Given the description of an element on the screen output the (x, y) to click on. 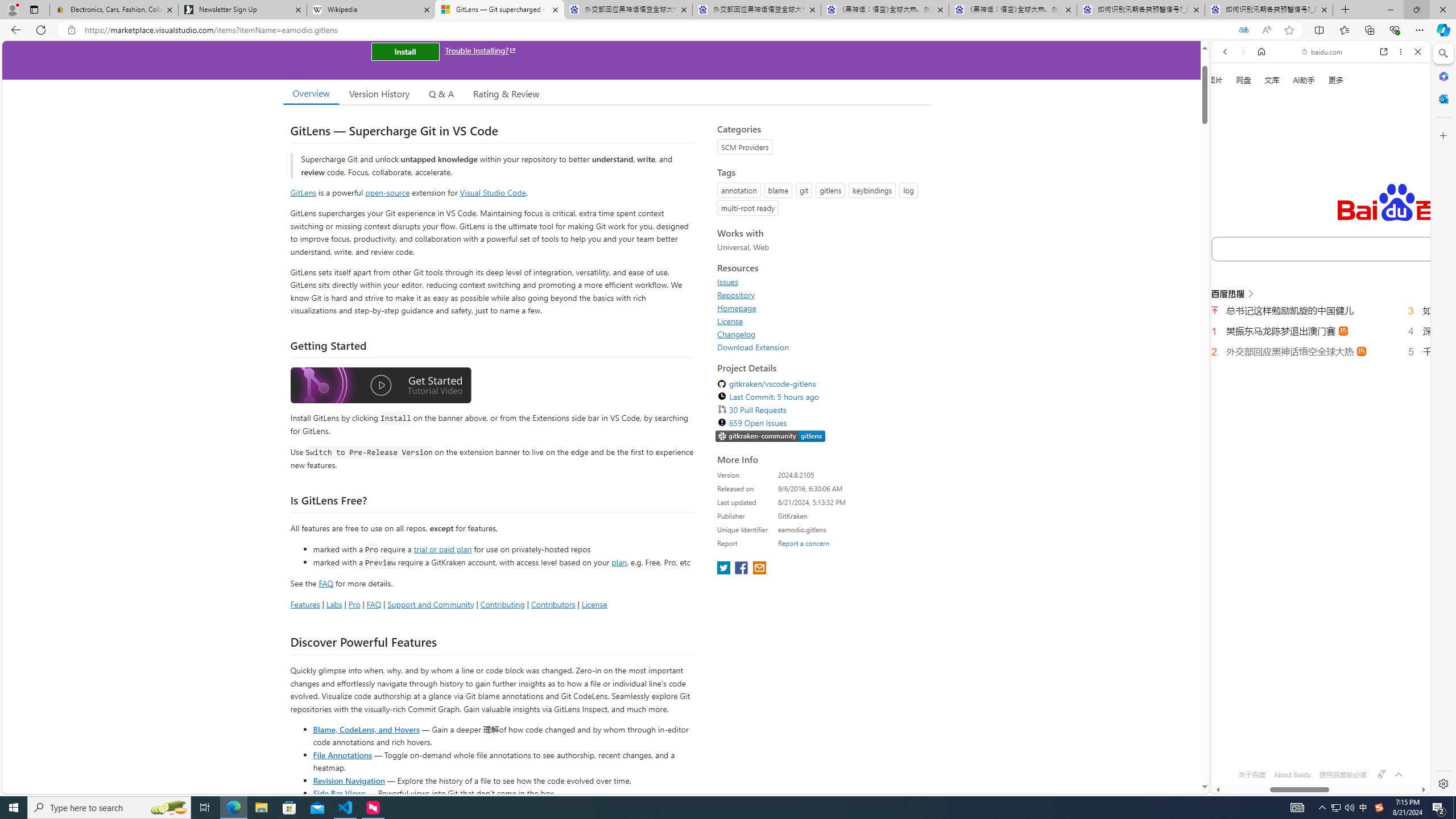
Contributing (502, 603)
OF | English meaning - Cambridge Dictionary (1315, 238)
License (729, 320)
FAQ (373, 603)
share extension on facebook (742, 568)
